Given the description of an element on the screen output the (x, y) to click on. 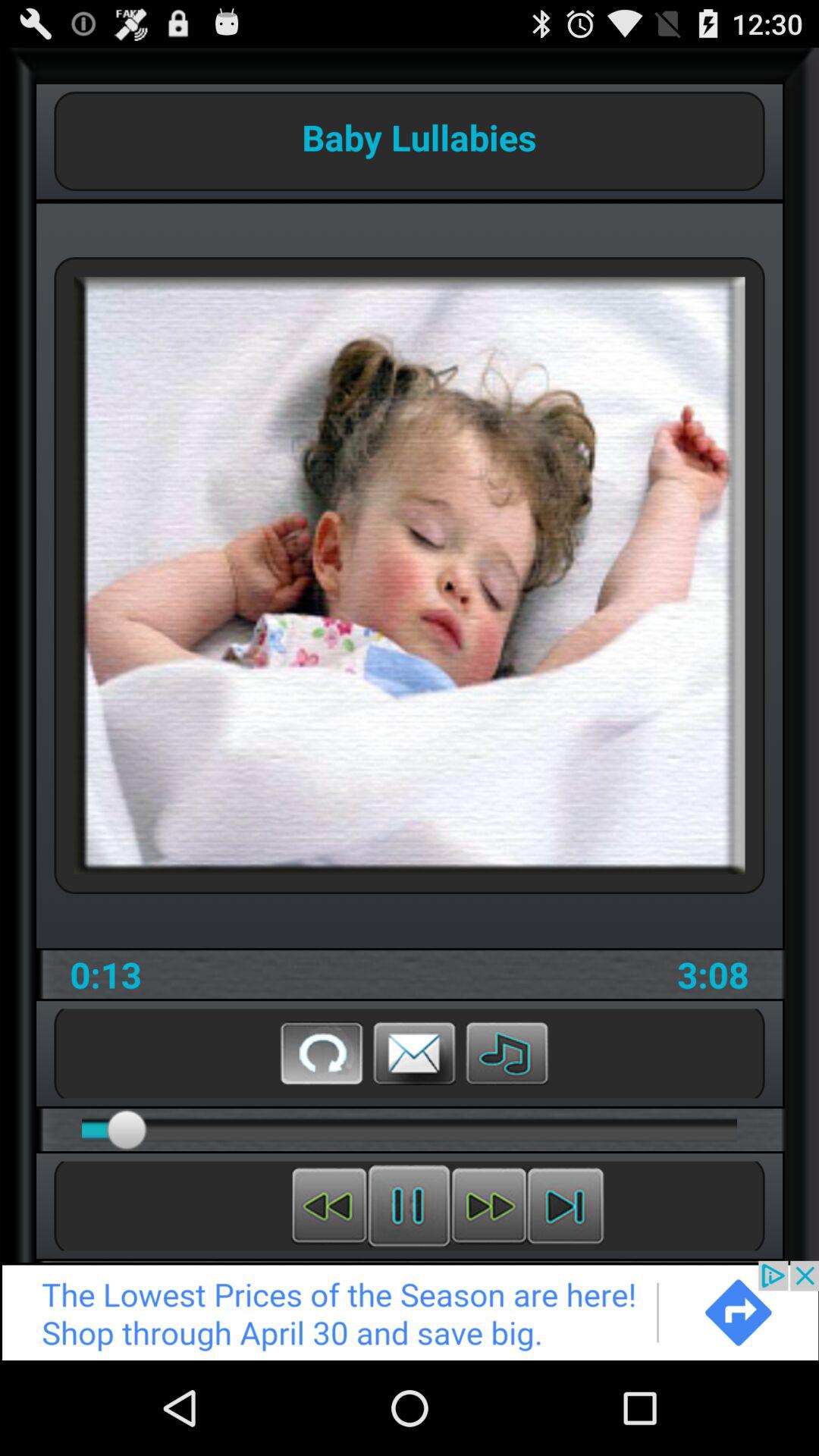
replay button (321, 1053)
